Given the description of an element on the screen output the (x, y) to click on. 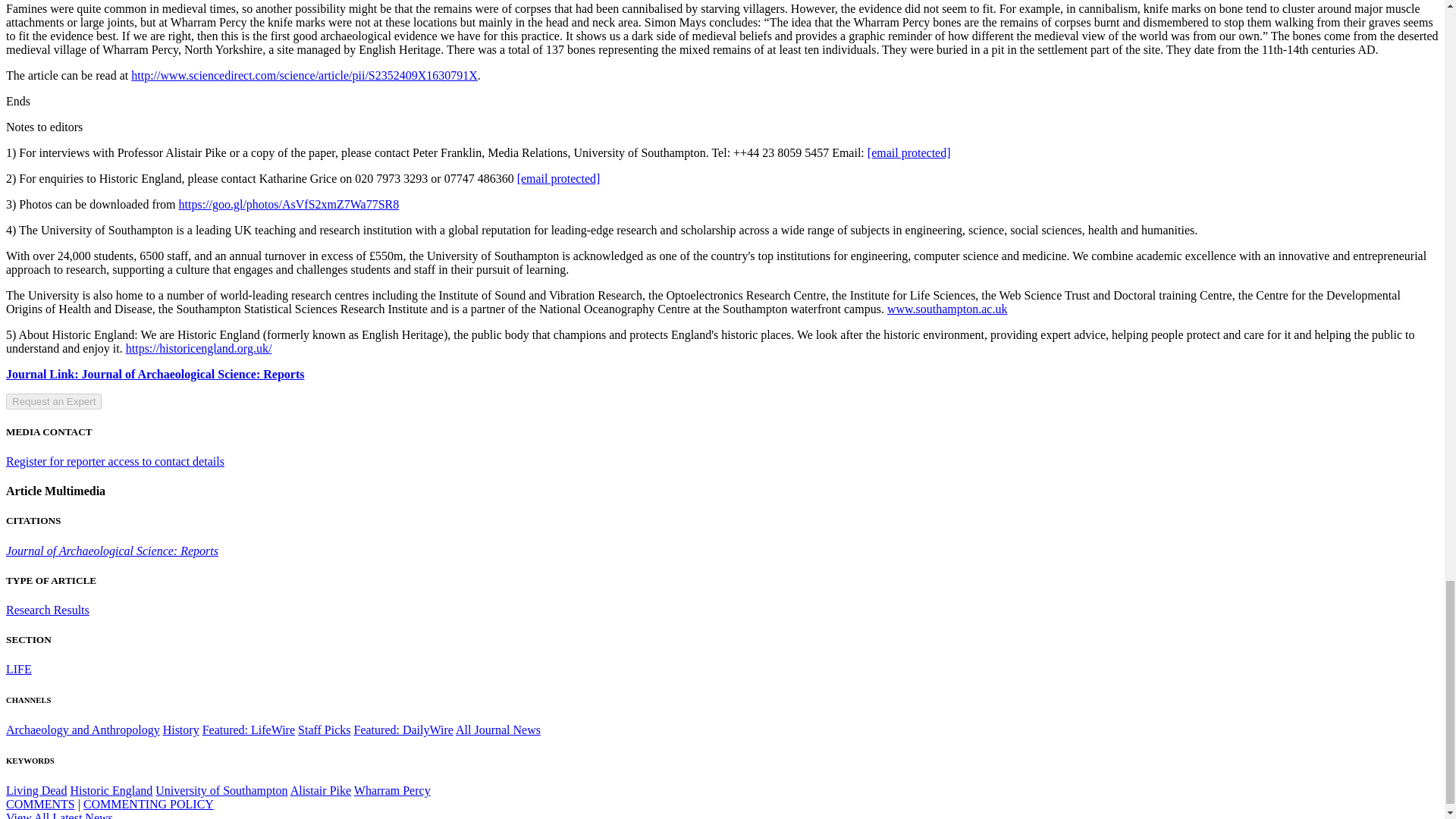
Research Results (46, 609)
Show all articles in this channel (18, 668)
Show all articles in this channel (248, 729)
Show all articles in this channel (82, 729)
Show all articles in this channel (181, 729)
